Given the description of an element on the screen output the (x, y) to click on. 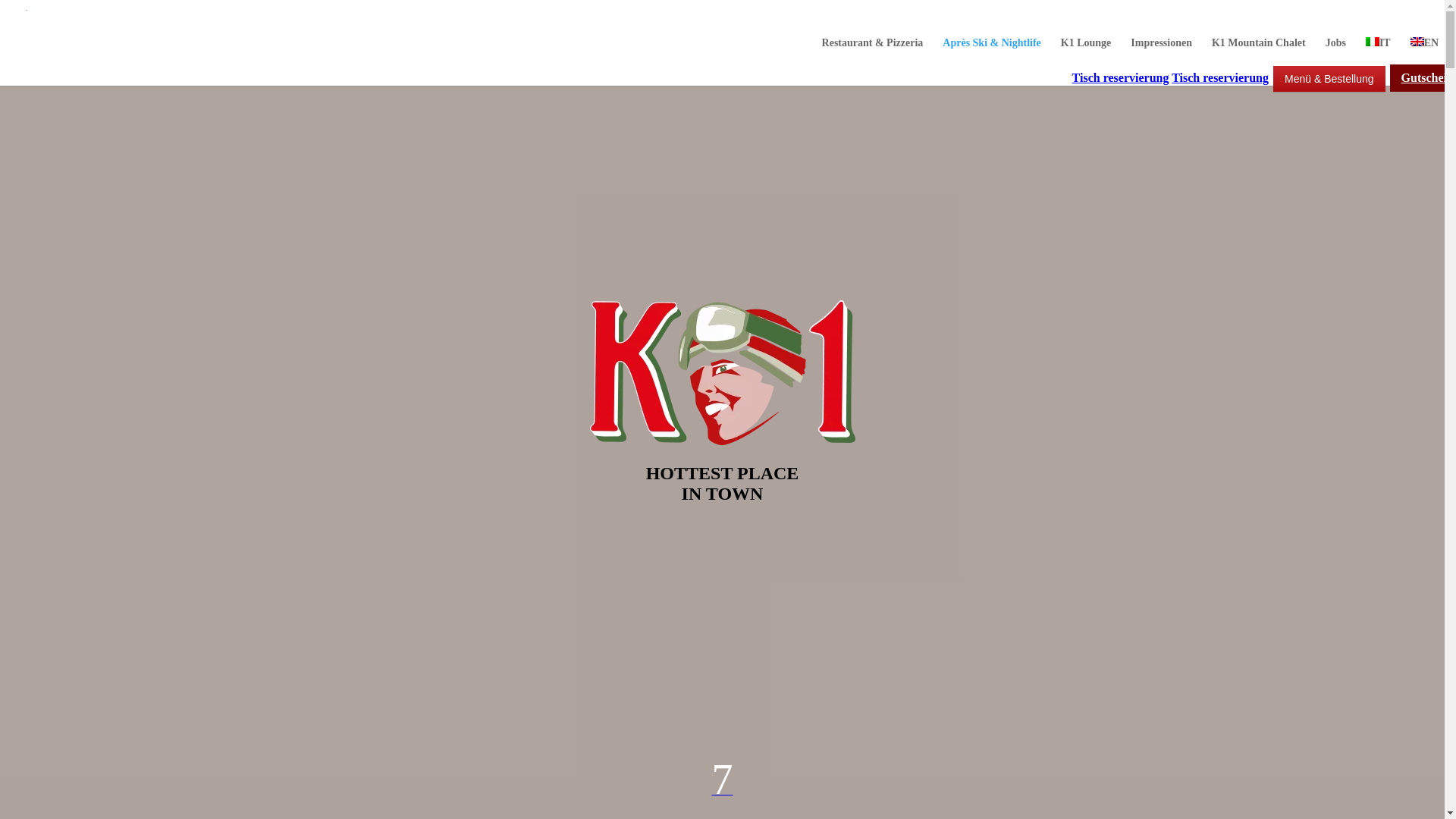
Tisch reservierung Element type: text (1120, 77)
7 Element type: text (721, 779)
Jobs Element type: text (1335, 55)
Impressionen Element type: text (1161, 55)
Restaurant & Pizzeria Element type: text (872, 55)
IT Element type: text (1377, 55)
Tisch reservierung Element type: text (1219, 77)
K1 Lounge Element type: text (1085, 55)
K1 Mountain Chalet Element type: text (1258, 55)
EN Element type: text (1424, 55)
